Given the description of an element on the screen output the (x, y) to click on. 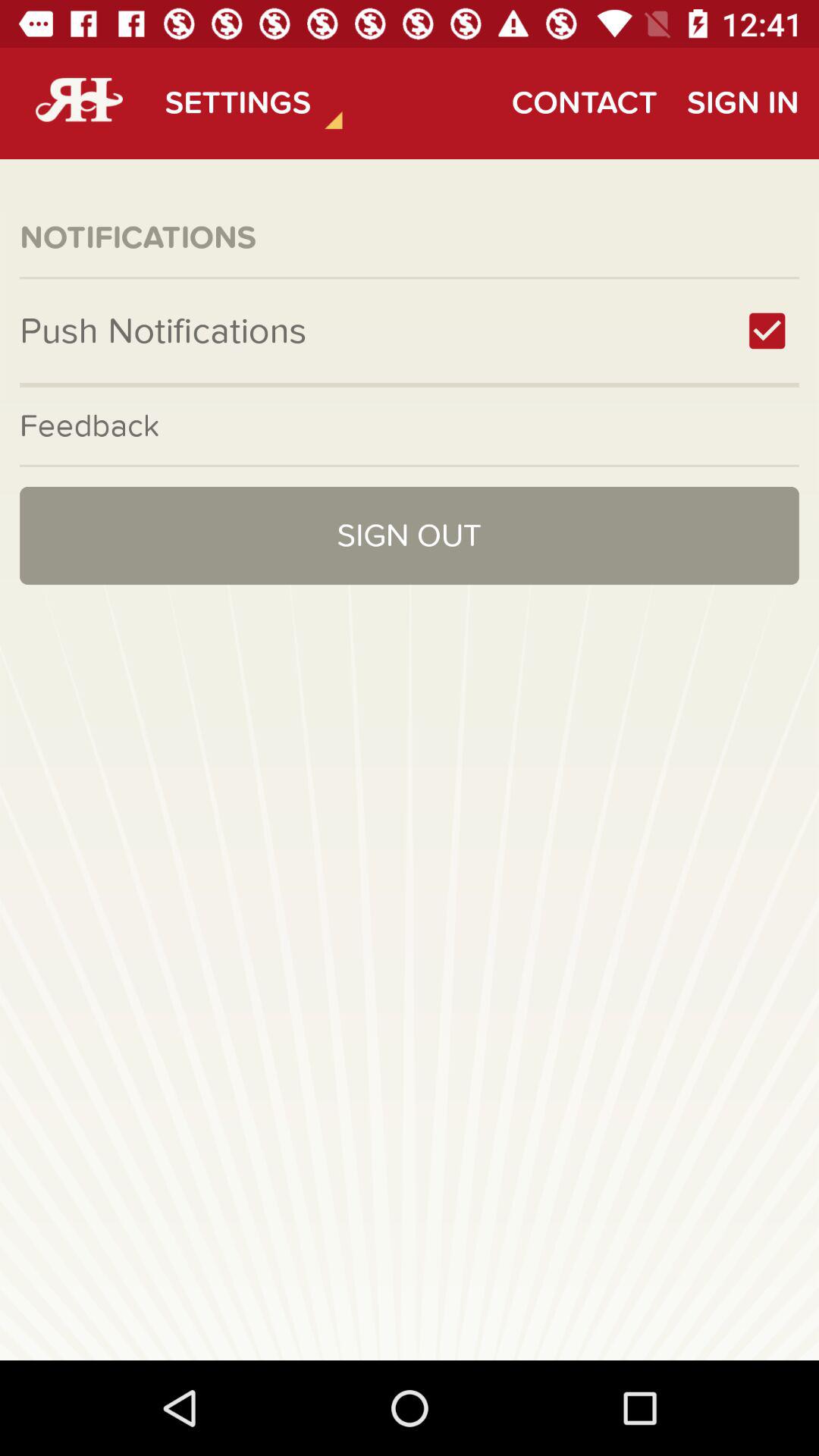
open sign in icon (743, 103)
